Given the description of an element on the screen output the (x, y) to click on. 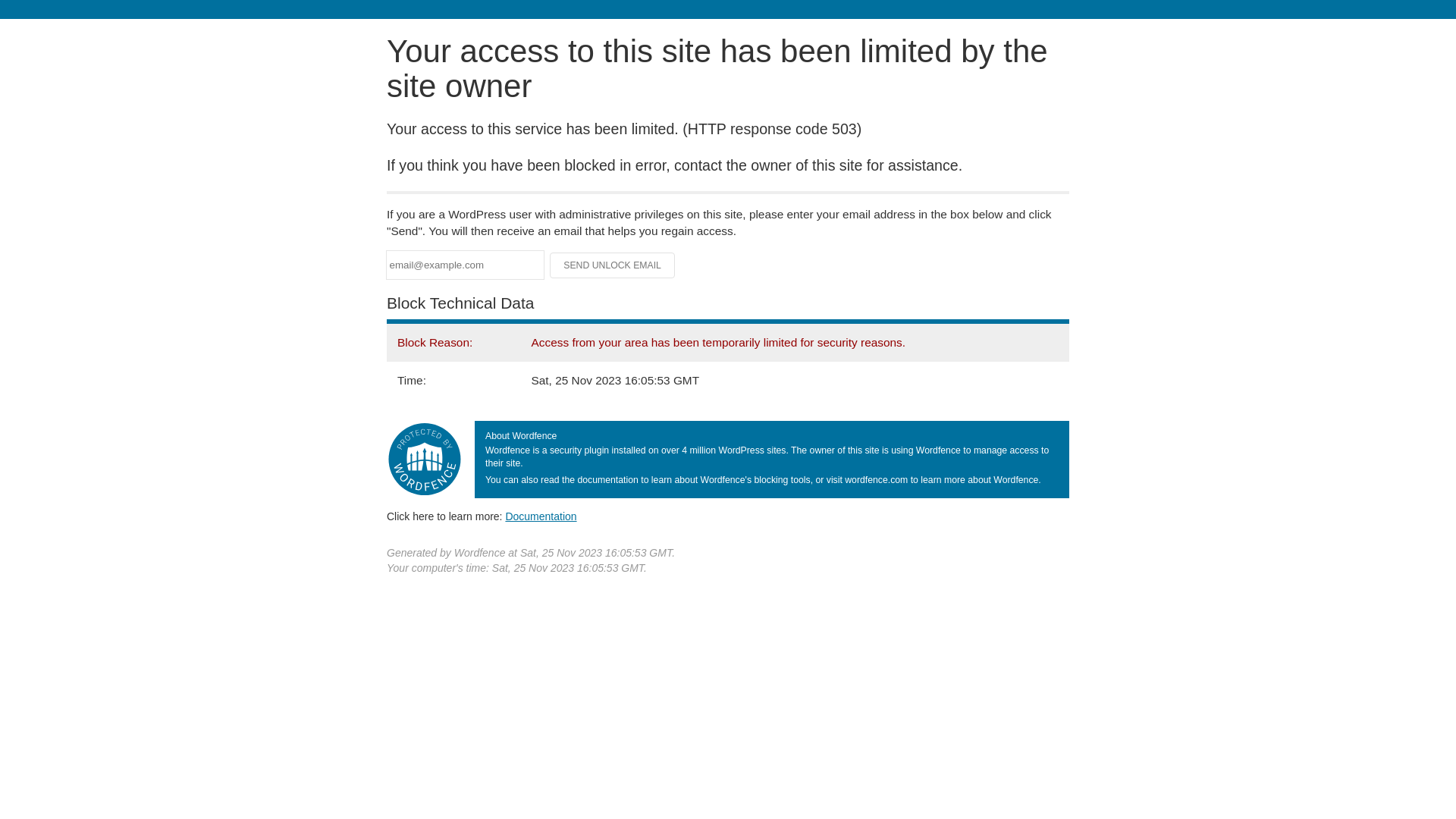
Send Unlock Email Element type: text (612, 265)
Documentation Element type: text (540, 516)
